Given the description of an element on the screen output the (x, y) to click on. 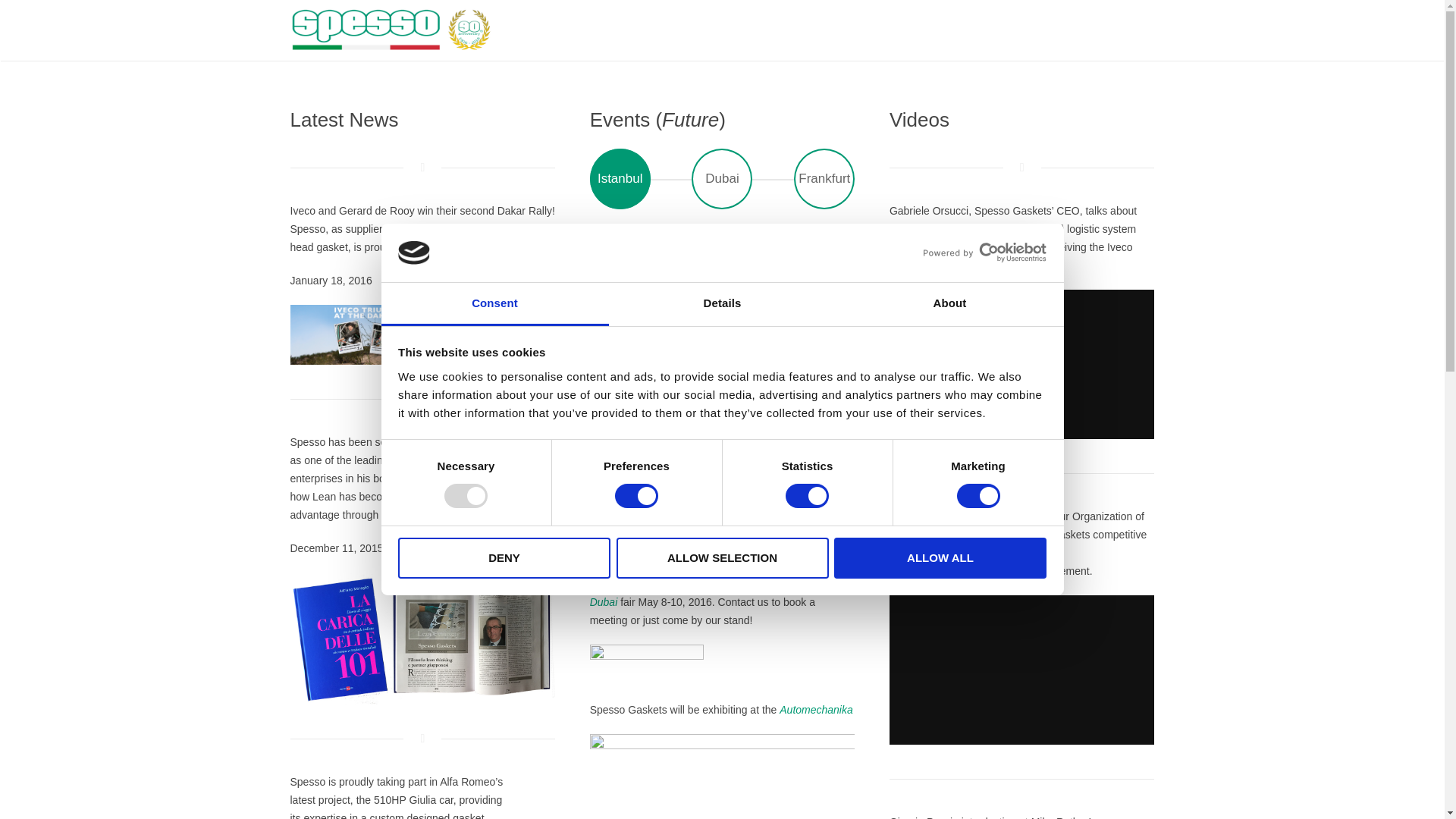
About (948, 303)
Consent (494, 303)
ALLOW SELECTION (721, 557)
ALLOW ALL (940, 557)
Details (721, 303)
DENY (503, 557)
